Given the description of an element on the screen output the (x, y) to click on. 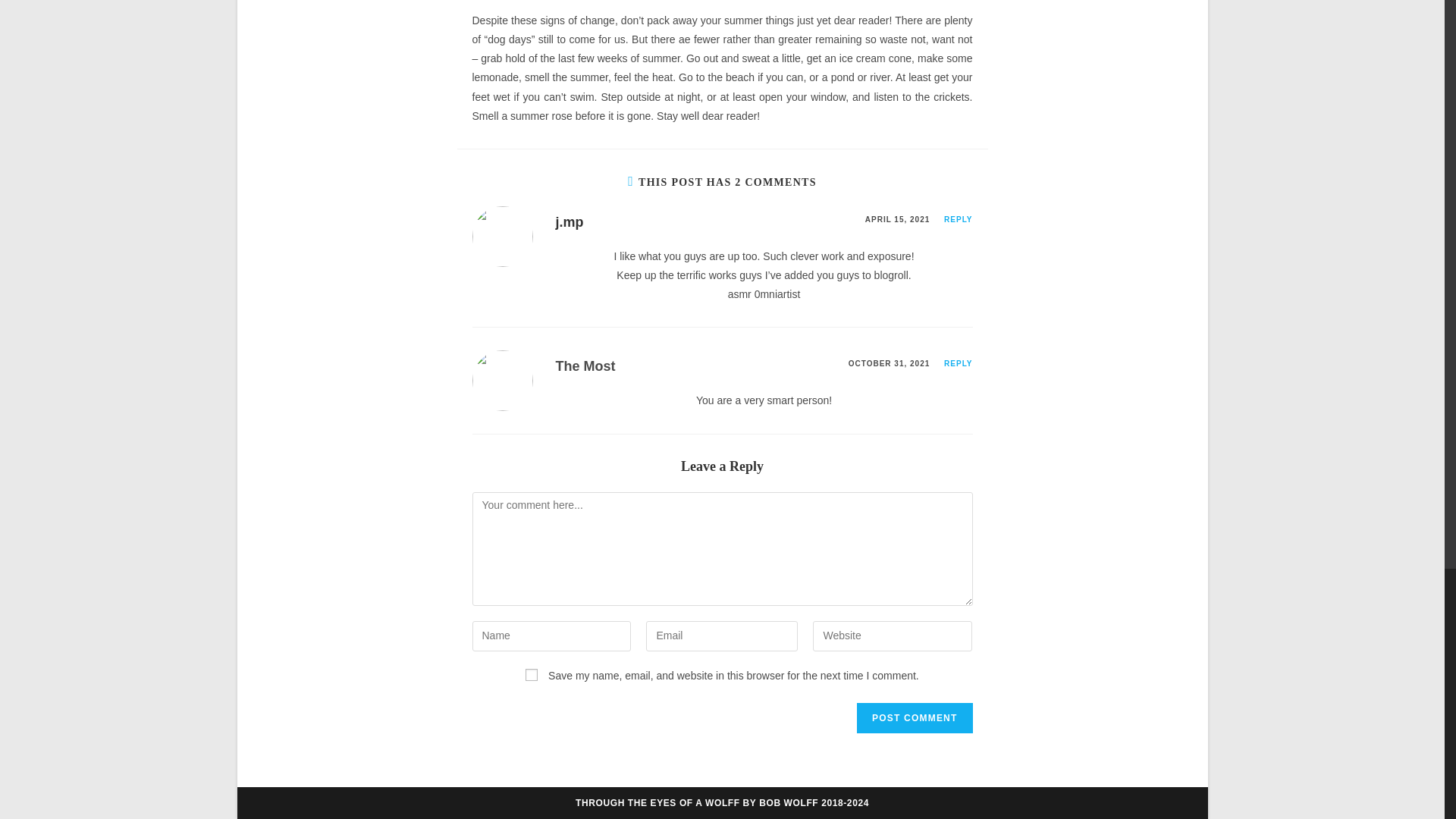
Post Comment (914, 717)
REPLY (957, 219)
yes (531, 674)
j.mp (568, 222)
REPLY (957, 363)
Post Comment (914, 717)
